Given the description of an element on the screen output the (x, y) to click on. 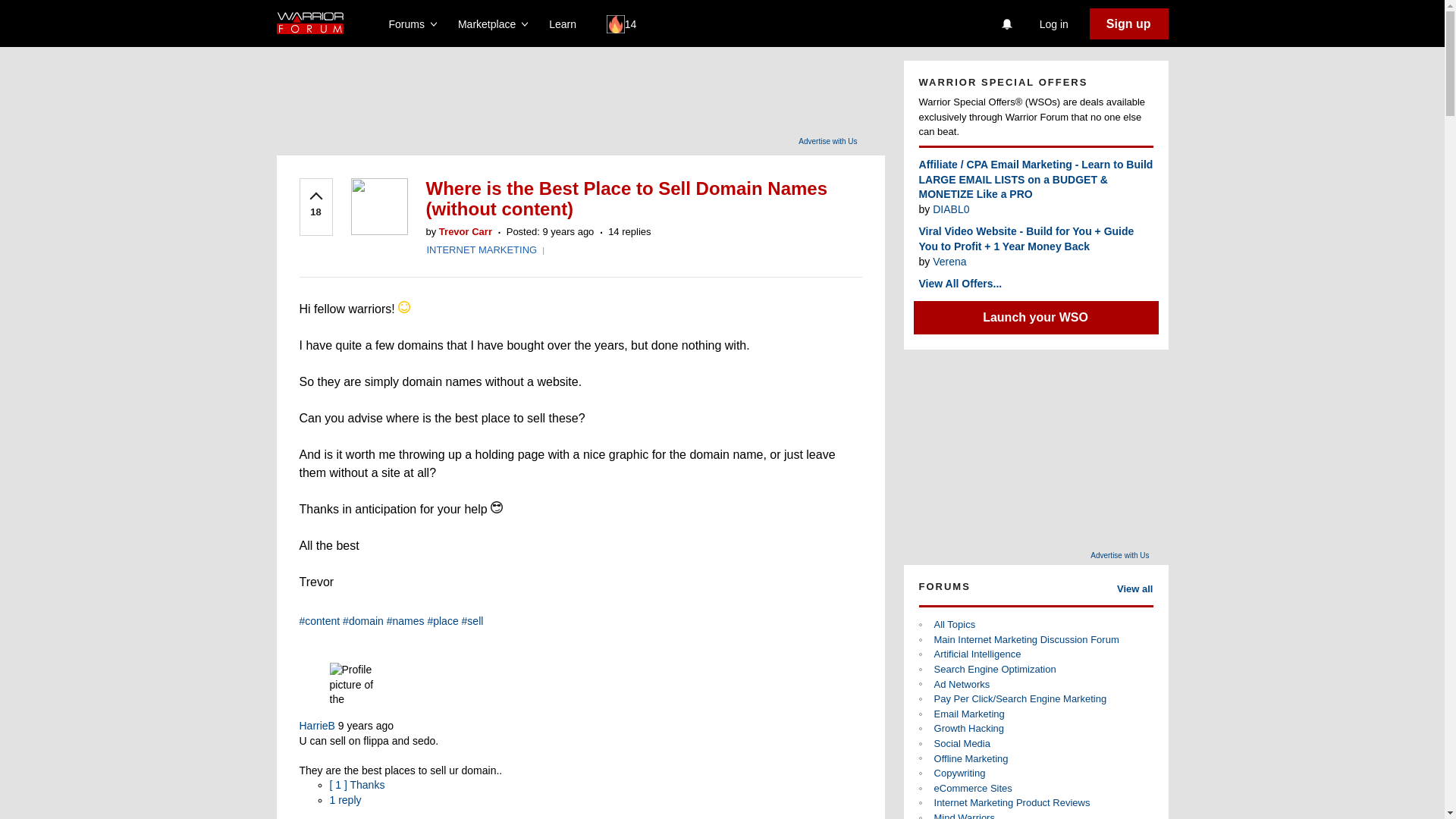
Cool (496, 507)
3rd party ad content (600, 94)
Smile (403, 306)
